Given the description of an element on the screen output the (x, y) to click on. 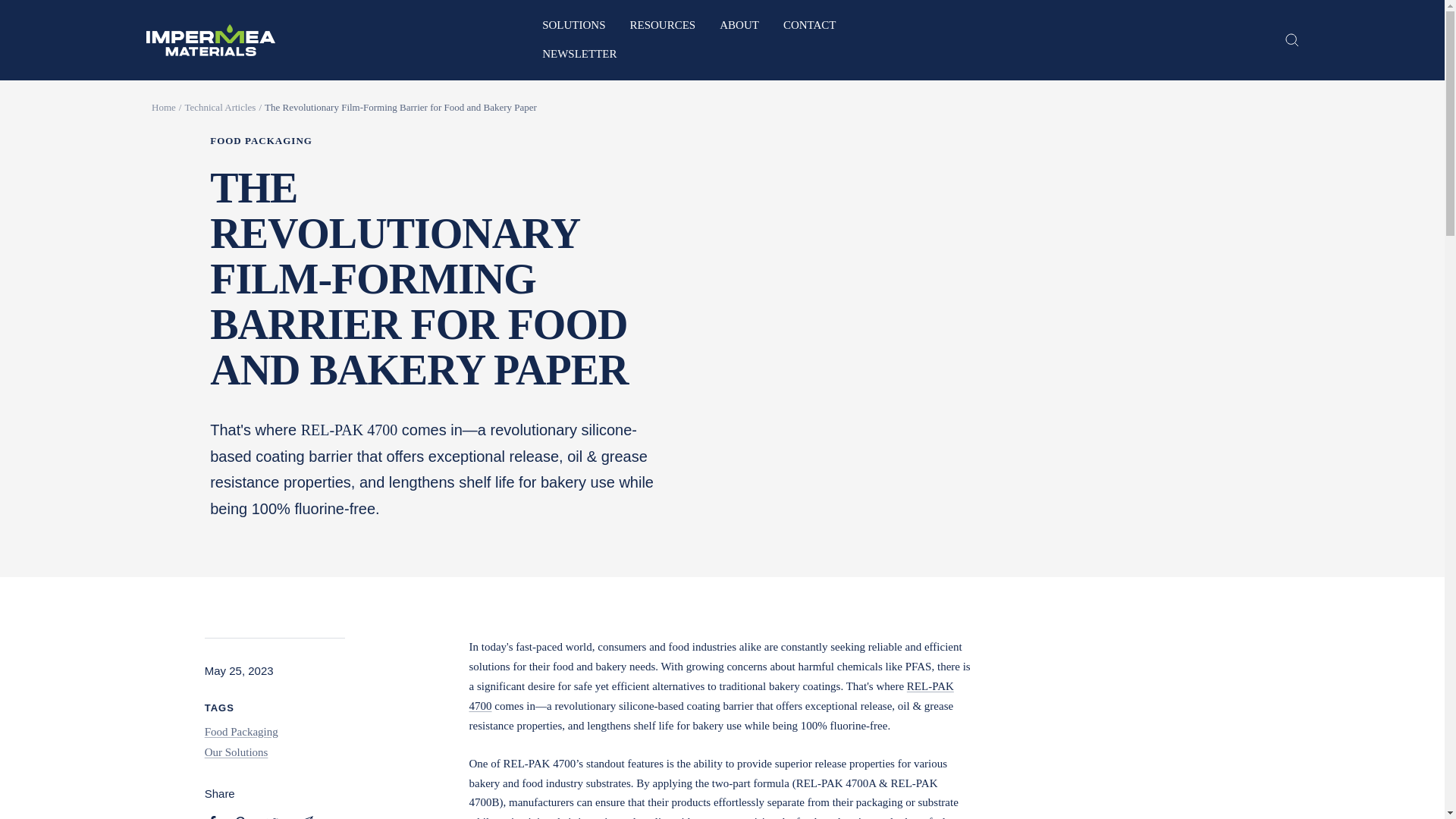
REL-PAK 4700 (349, 429)
SOLUTIONS (573, 25)
Home (163, 107)
Food Packaging (241, 731)
CONTACT (809, 25)
ABOUT (738, 25)
Our Solutions (236, 752)
FOOD PACKAGING (438, 141)
REL-PAK 4700 (710, 695)
NEWSLETTER (578, 54)
